Given the description of an element on the screen output the (x, y) to click on. 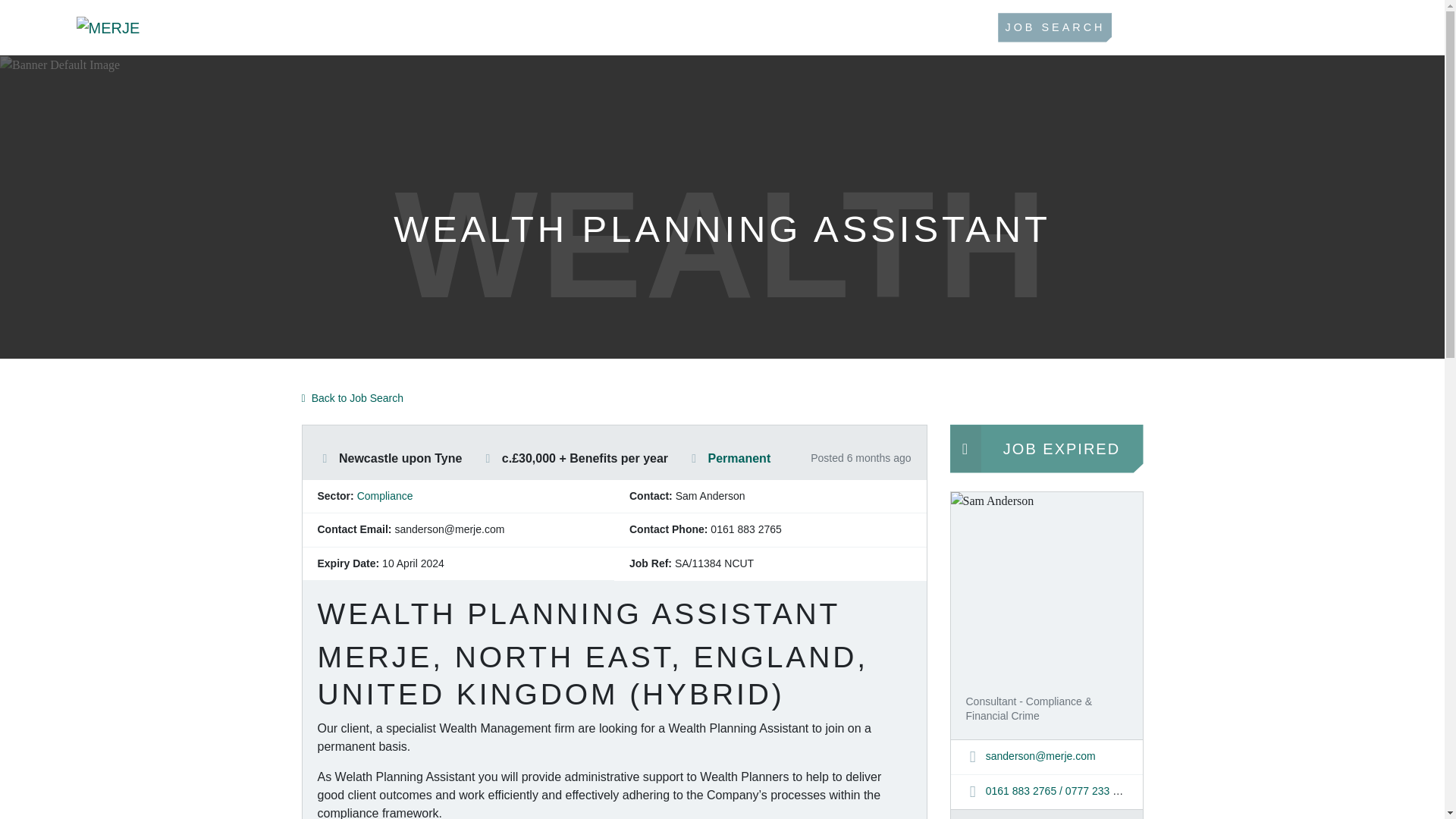
JOB EXPIRED (1045, 449)
Job Type (693, 458)
MENU (1321, 27)
HIRING? (789, 26)
Salary (487, 458)
APPLYING? (676, 26)
MY ACCOUNT (1192, 27)
JOB SEARCH (1054, 27)
Location (324, 458)
Permanent (739, 458)
